Given the description of an element on the screen output the (x, y) to click on. 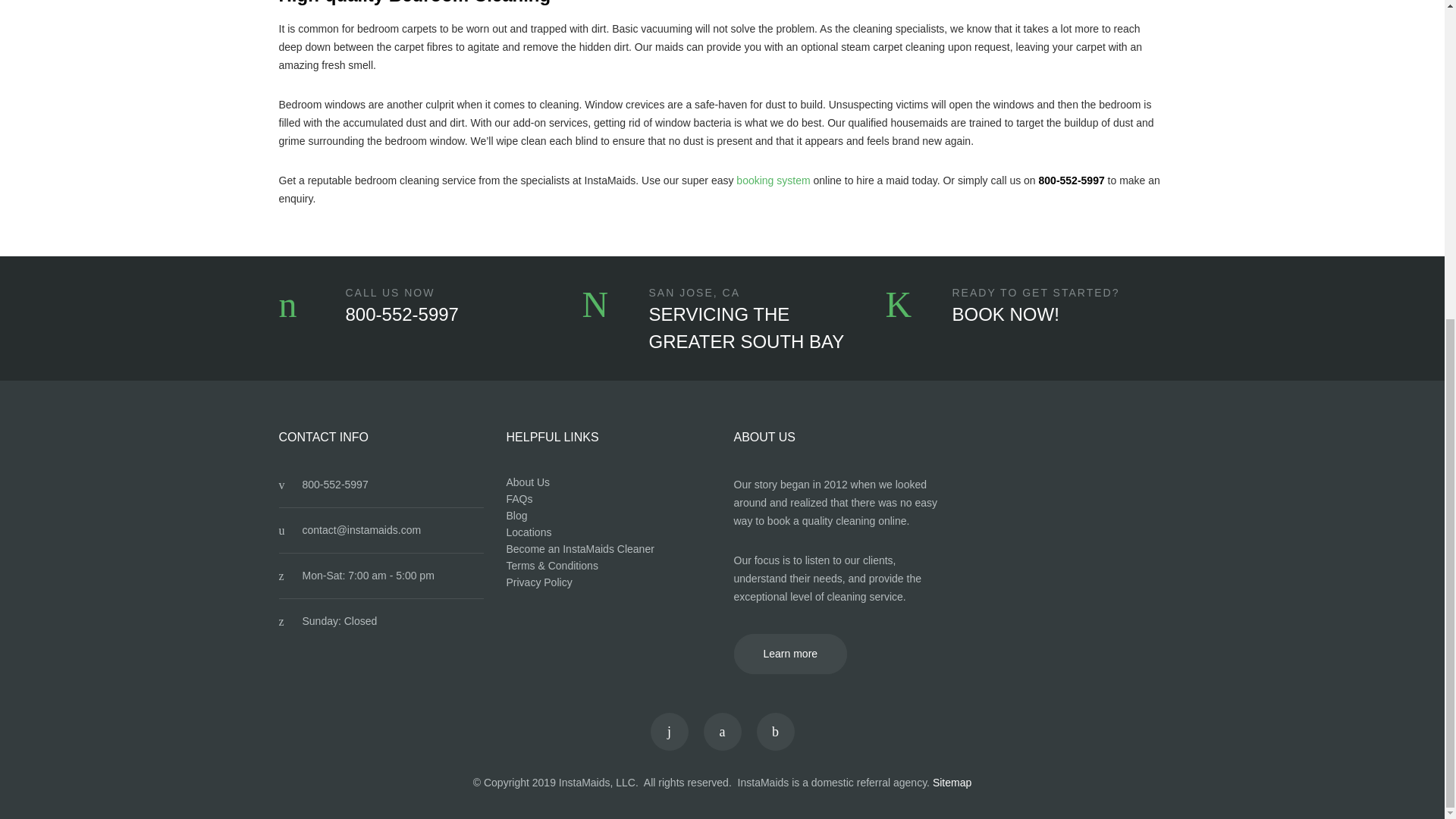
Sitemap (952, 782)
Blog (516, 515)
800-552-5997 (402, 313)
Learn more (790, 653)
Locations (528, 532)
About Us (528, 481)
Become an InstaMaids Cleaner (579, 548)
FAQs (519, 499)
booking system (772, 180)
800-552-5997 (334, 484)
